Given the description of an element on the screen output the (x, y) to click on. 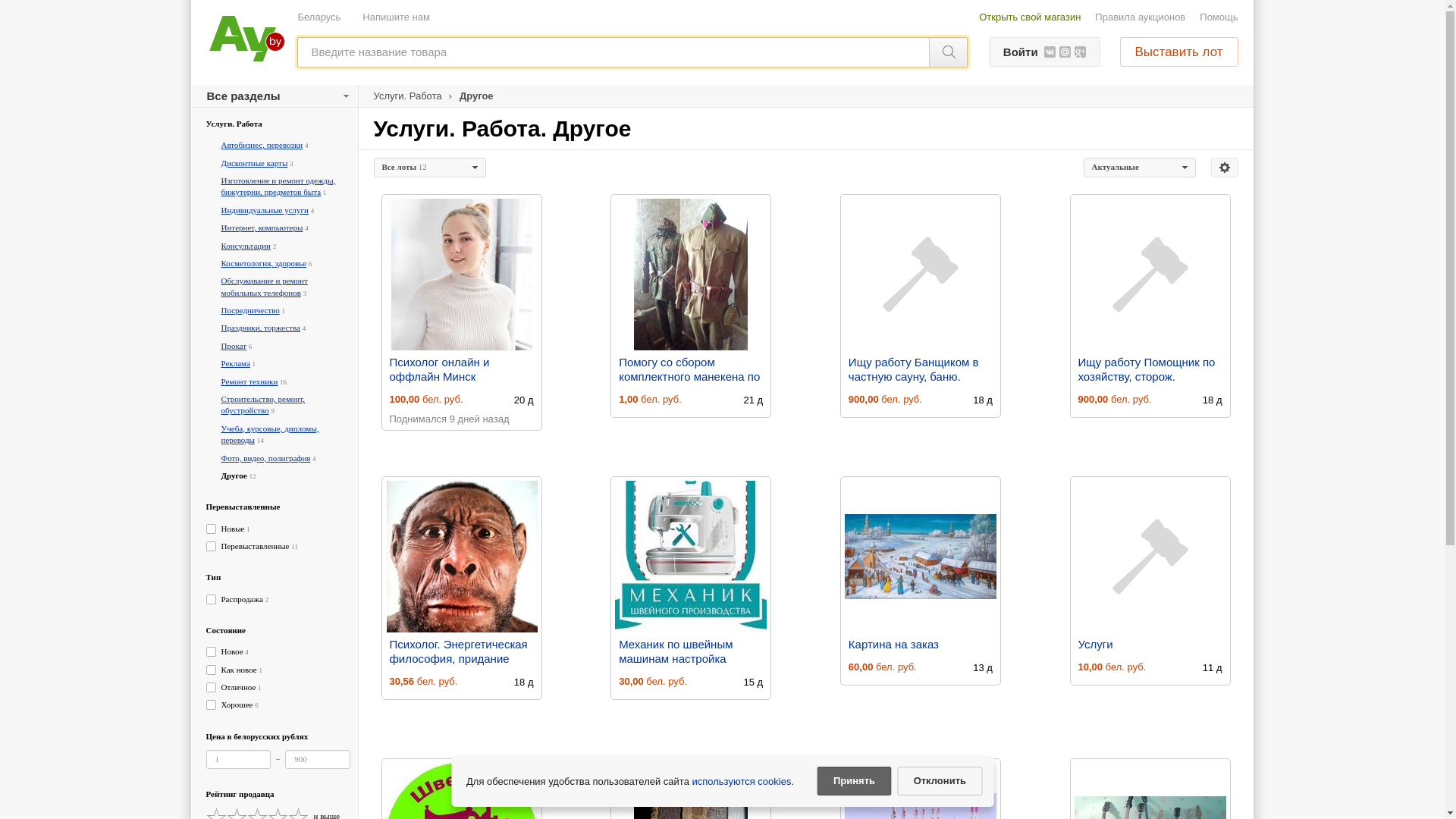
pp Element type: text (721, 291)
login Element type: text (721, 172)
